Given the description of an element on the screen output the (x, y) to click on. 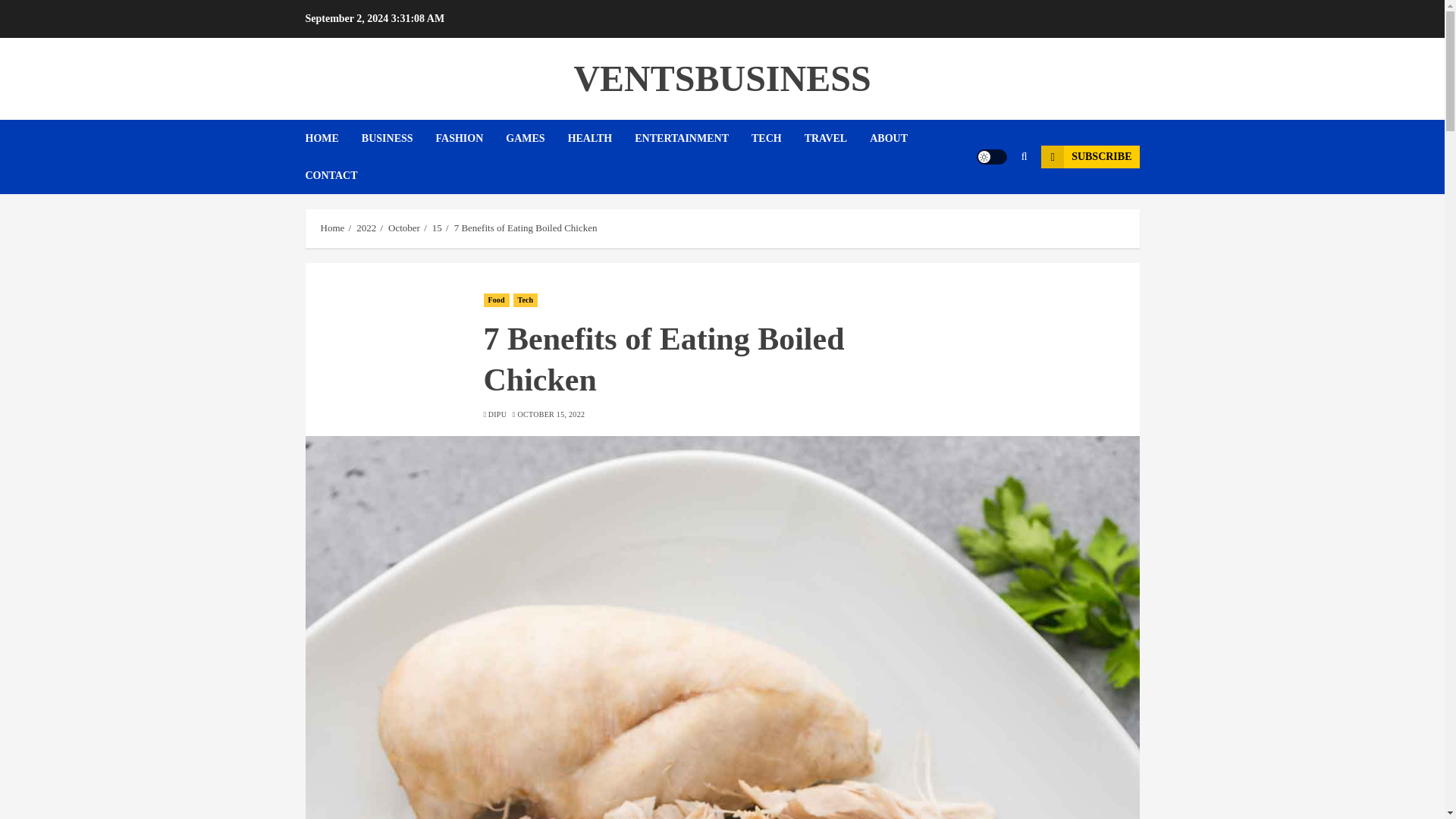
Tech (525, 300)
ABOUT (899, 138)
Food (496, 300)
7 Benefits of Eating Boiled Chicken (525, 227)
DIPU (496, 414)
BUSINESS (398, 138)
TRAVEL (837, 138)
ENTERTAINMENT (692, 138)
VENTSBUSINESS (721, 78)
Home (331, 227)
